Given the description of an element on the screen output the (x, y) to click on. 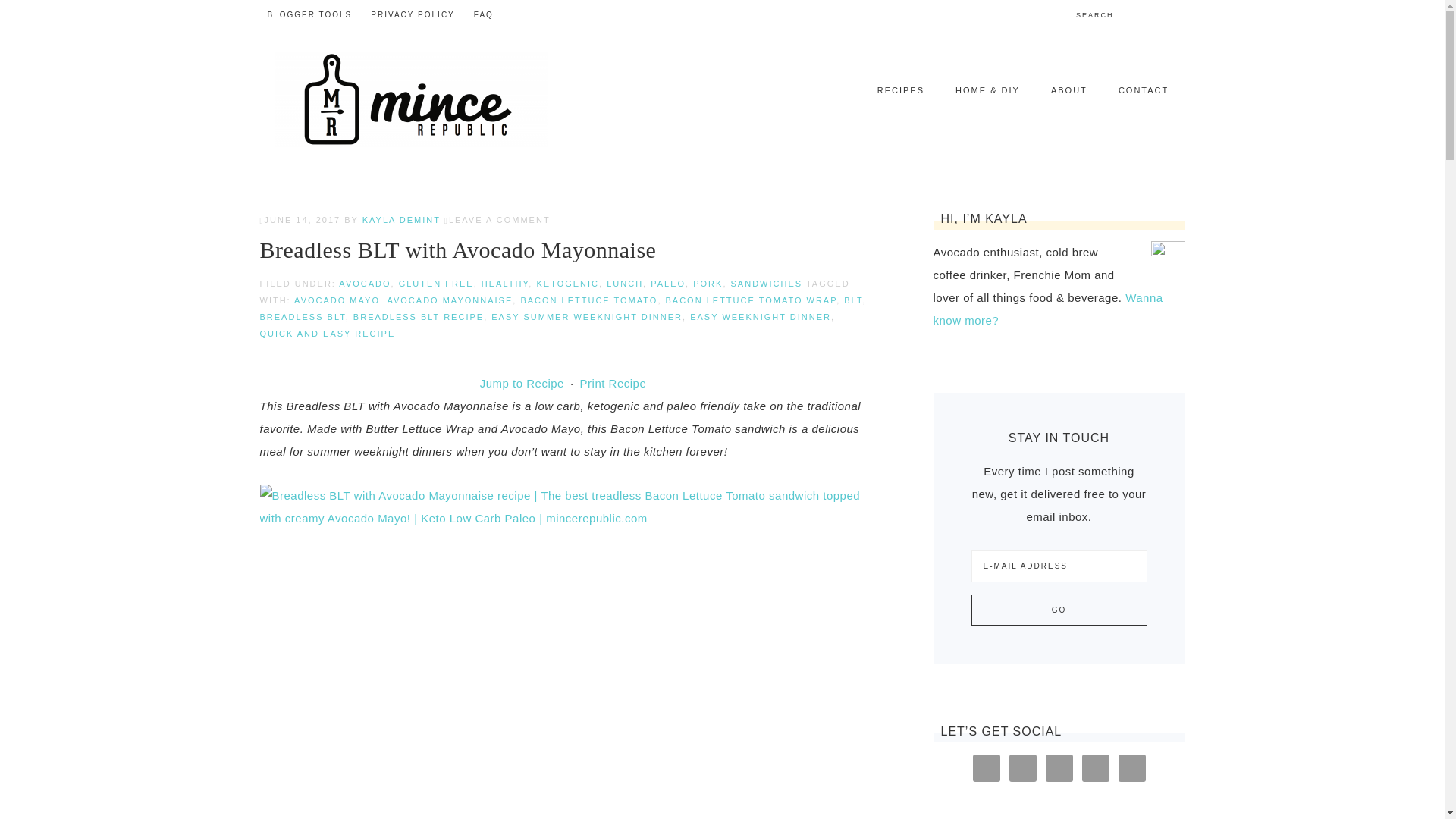
AVOCADO MAYONNAISE (449, 299)
KETOGENIC (566, 283)
ABOUT (1068, 90)
RECIPES (900, 90)
LEAVE A COMMENT (499, 219)
GLUTEN FREE (436, 283)
AVOCADO MAYO (337, 299)
HEALTHY (505, 283)
BACON LETTUCE TOMATO (588, 299)
FAQ (482, 15)
